Given the description of an element on the screen output the (x, y) to click on. 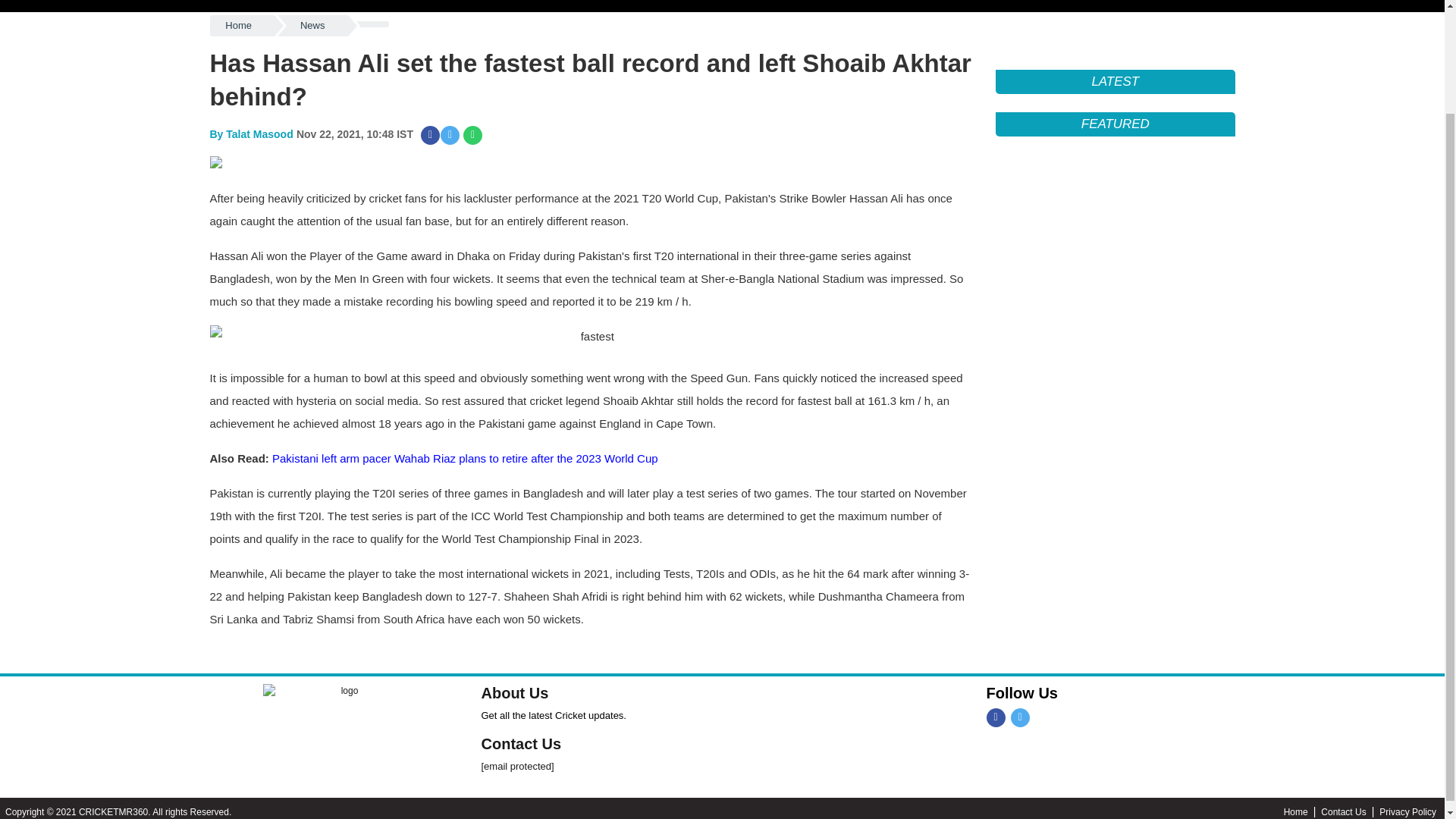
About Us (514, 780)
Facebook (994, 804)
Twitter (1019, 804)
